Given the description of an element on the screen output the (x, y) to click on. 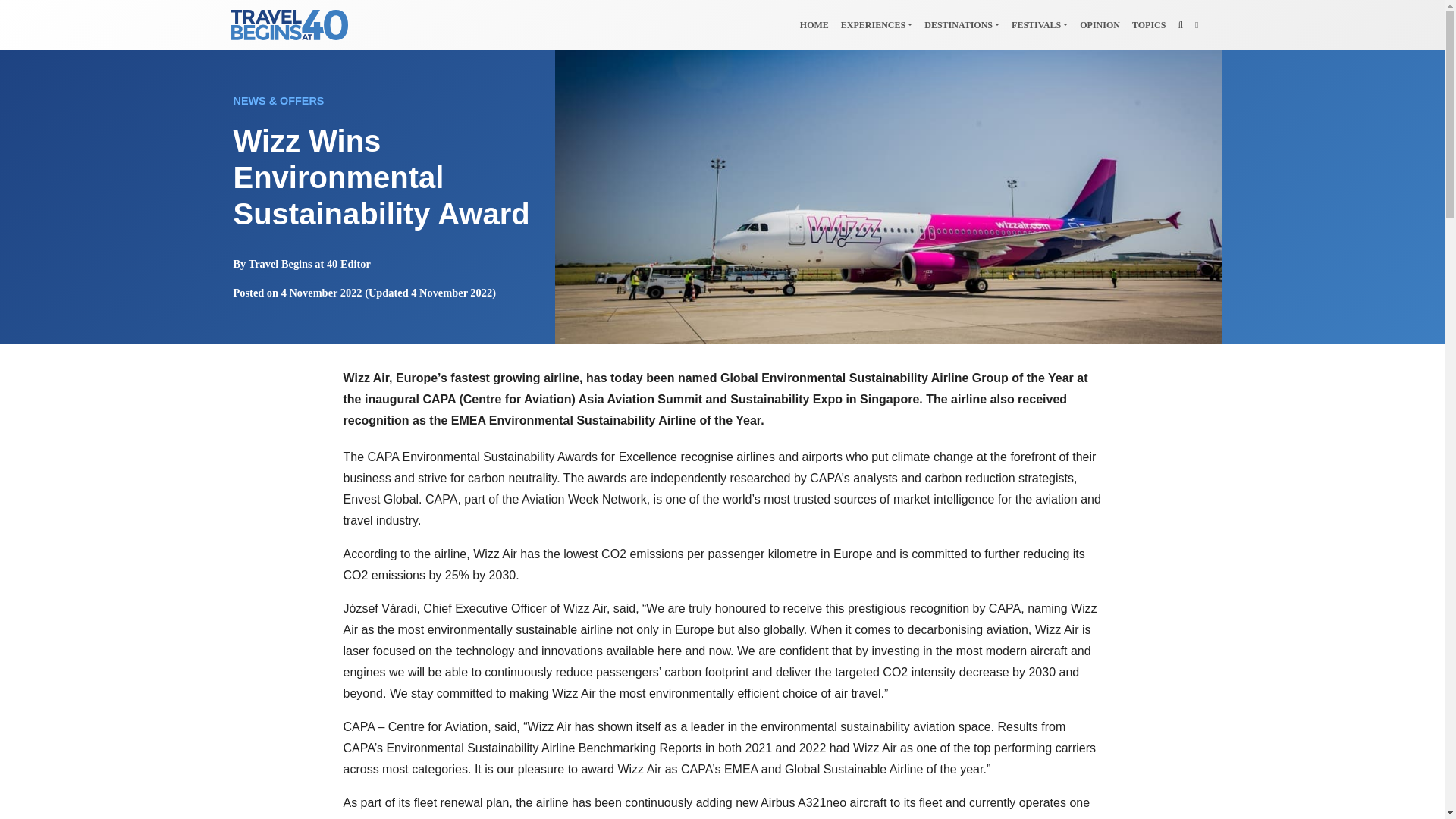
EXPERIENCES (876, 24)
Travel Experiences (876, 24)
DESTINATIONS (962, 24)
Travel Destinations (962, 24)
HOME (813, 24)
Travel Begins at 40 Homepage (813, 24)
FESTIVALS (1040, 24)
